Given the description of an element on the screen output the (x, y) to click on. 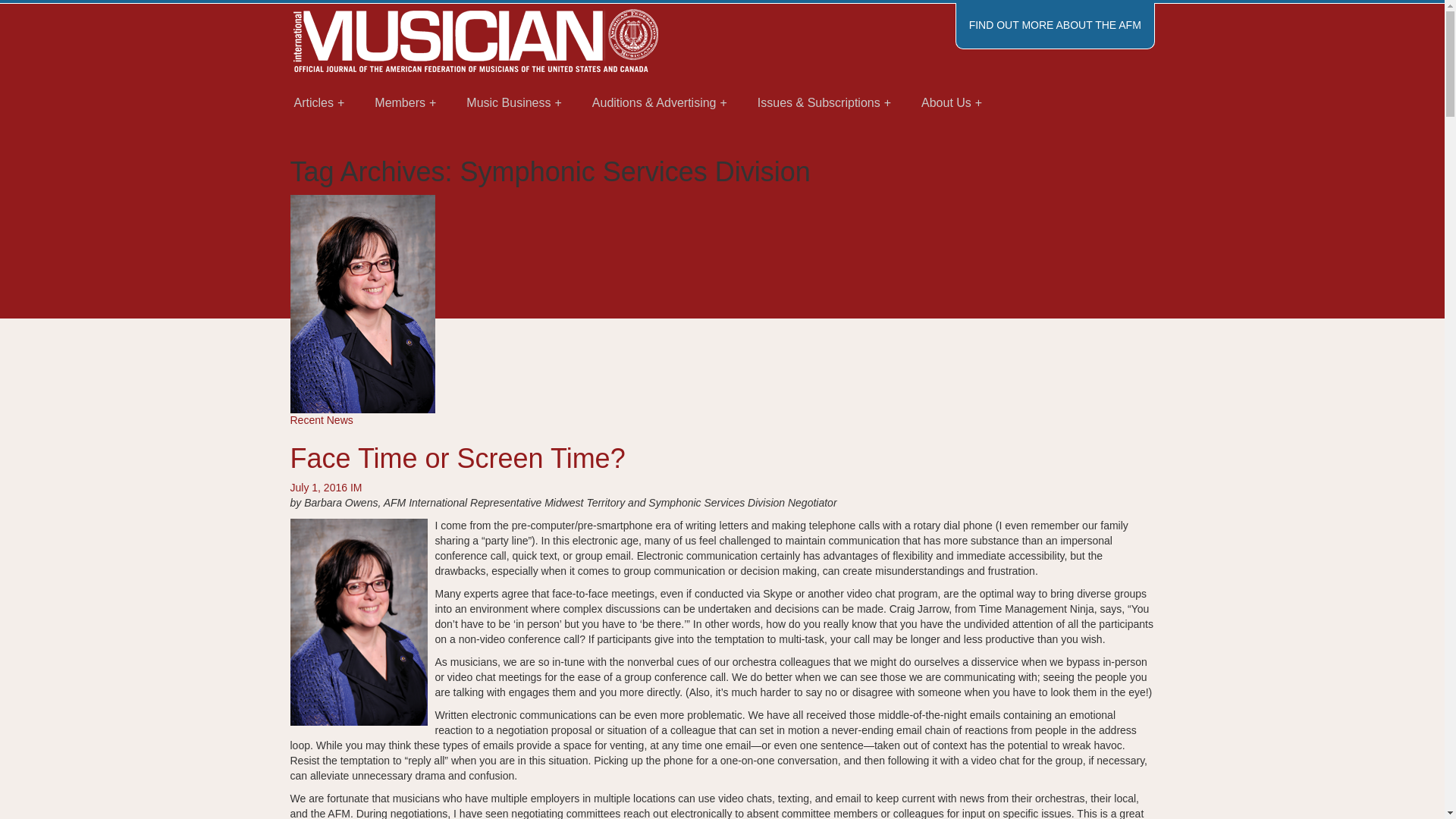
Music Business (513, 102)
About Us (951, 102)
Members (405, 102)
Articles (319, 102)
